Given the description of an element on the screen output the (x, y) to click on. 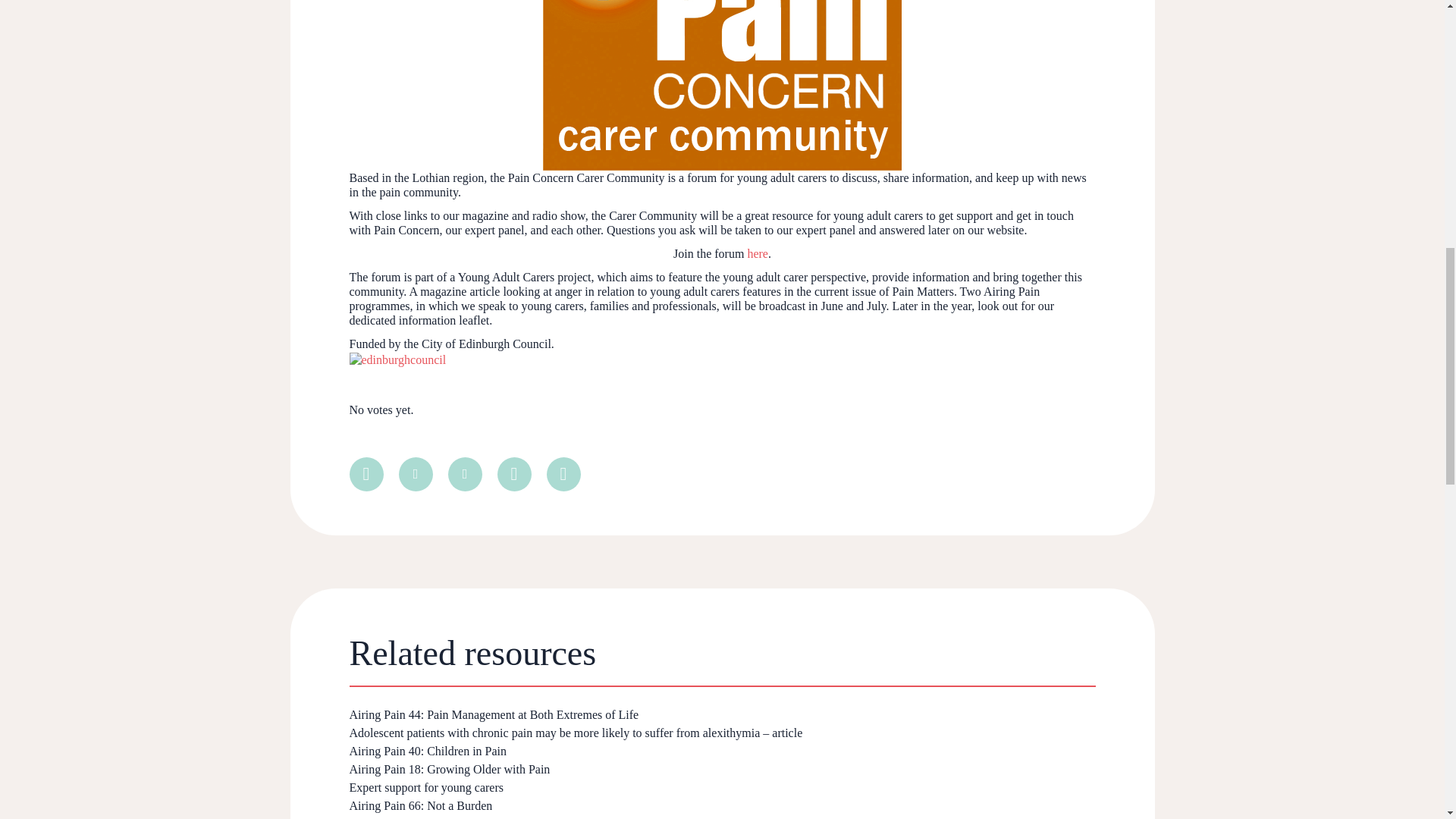
here (757, 253)
